Given the description of an element on the screen output the (x, y) to click on. 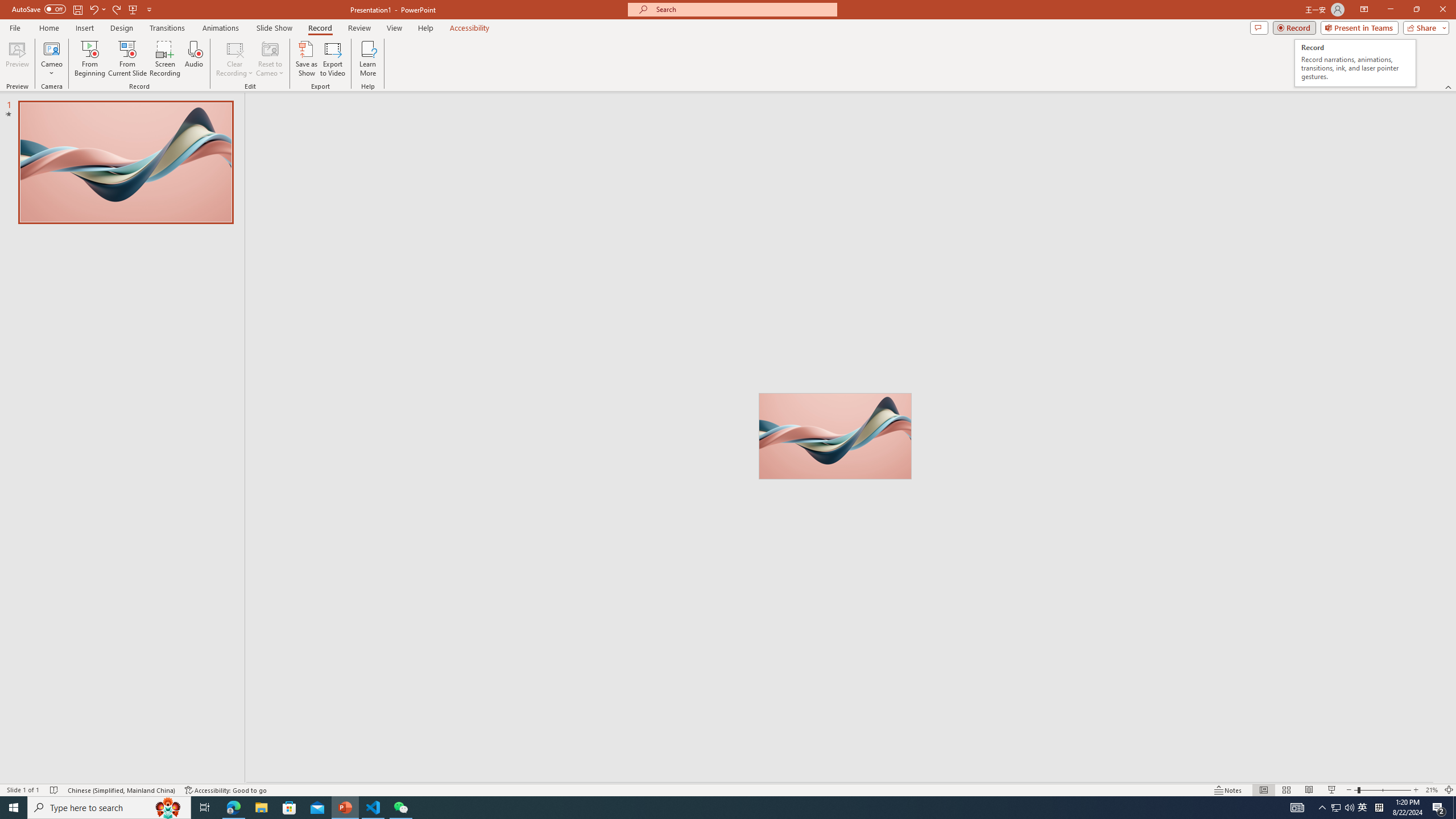
Learn More (368, 58)
Audio (193, 58)
